Given the description of an element on the screen output the (x, y) to click on. 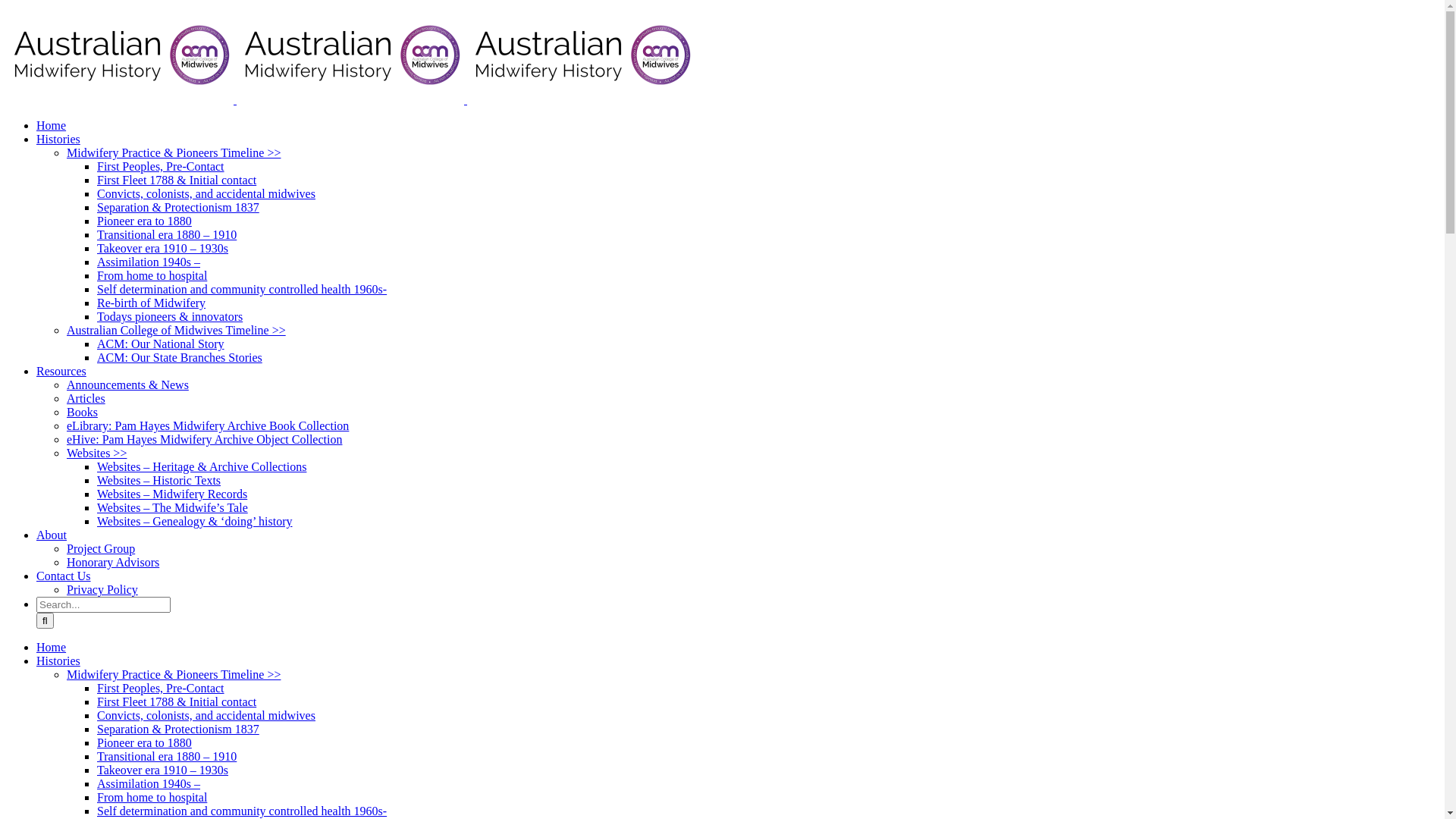
Self determination and community controlled health 1960s- Element type: text (241, 810)
First Peoples, Pre-Contact Element type: text (160, 166)
Articles Element type: text (85, 398)
Privacy Policy Element type: text (102, 589)
Home Element type: text (50, 646)
Websites >> Element type: text (96, 452)
ACM: Our State Branches Stories Element type: text (179, 357)
Pioneer era to 1880 Element type: text (144, 742)
eLibrary: Pam Hayes Midwifery Archive Book Collection Element type: text (207, 425)
Convicts, colonists, and accidental midwives Element type: text (206, 193)
Australian College of Midwives Timeline >> Element type: text (175, 329)
First Fleet 1788 & Initial contact Element type: text (176, 701)
From home to hospital Element type: text (152, 796)
First Peoples, Pre-Contact Element type: text (160, 687)
Resources Element type: text (61, 370)
Project Group Element type: text (100, 548)
Announcements & News Element type: text (127, 384)
Midwifery Practice & Pioneers Timeline >> Element type: text (173, 152)
eHive: Pam Hayes Midwifery Archive Object Collection Element type: text (204, 439)
Todays pioneers & innovators Element type: text (169, 316)
Midwifery Practice & Pioneers Timeline >> Element type: text (173, 674)
Separation & Protectionism 1837 Element type: text (178, 728)
Books Element type: text (81, 411)
Re-birth of Midwifery Element type: text (151, 302)
Self determination and community controlled health 1960s- Element type: text (241, 288)
About Element type: text (51, 534)
Pioneer era to 1880 Element type: text (144, 220)
Histories Element type: text (58, 138)
First Fleet 1788 & Initial contact Element type: text (176, 179)
Skip to content Element type: text (5, 5)
Separation & Protectionism 1837 Element type: text (178, 206)
Histories Element type: text (58, 660)
Home Element type: text (50, 125)
From home to hospital Element type: text (152, 275)
ACM: Our National Story Element type: text (160, 343)
Honorary Advisors Element type: text (112, 561)
Convicts, colonists, and accidental midwives Element type: text (206, 715)
Contact Us Element type: text (63, 575)
